Given the description of an element on the screen output the (x, y) to click on. 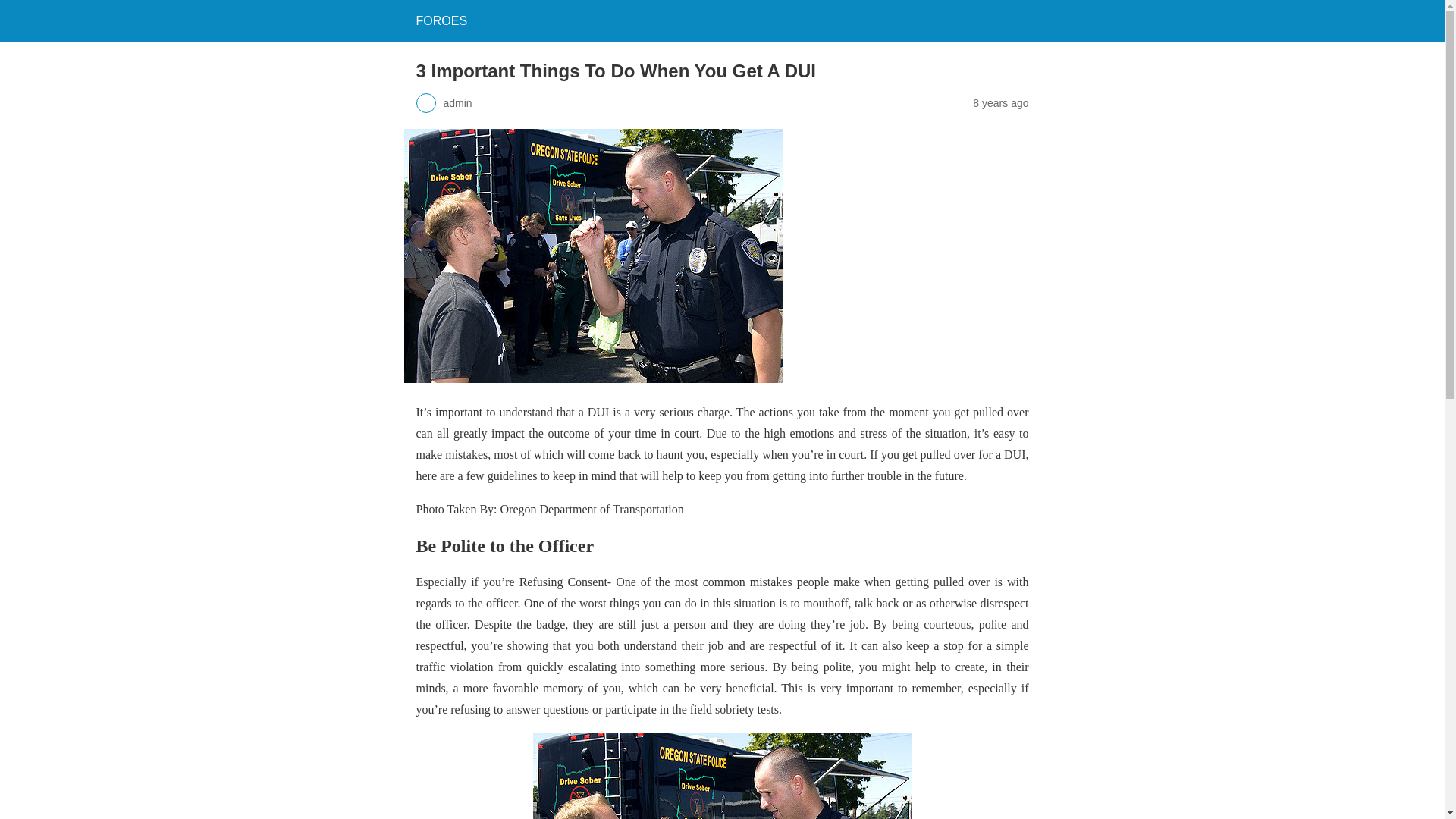
FOROES (440, 20)
